Given the description of an element on the screen output the (x, y) to click on. 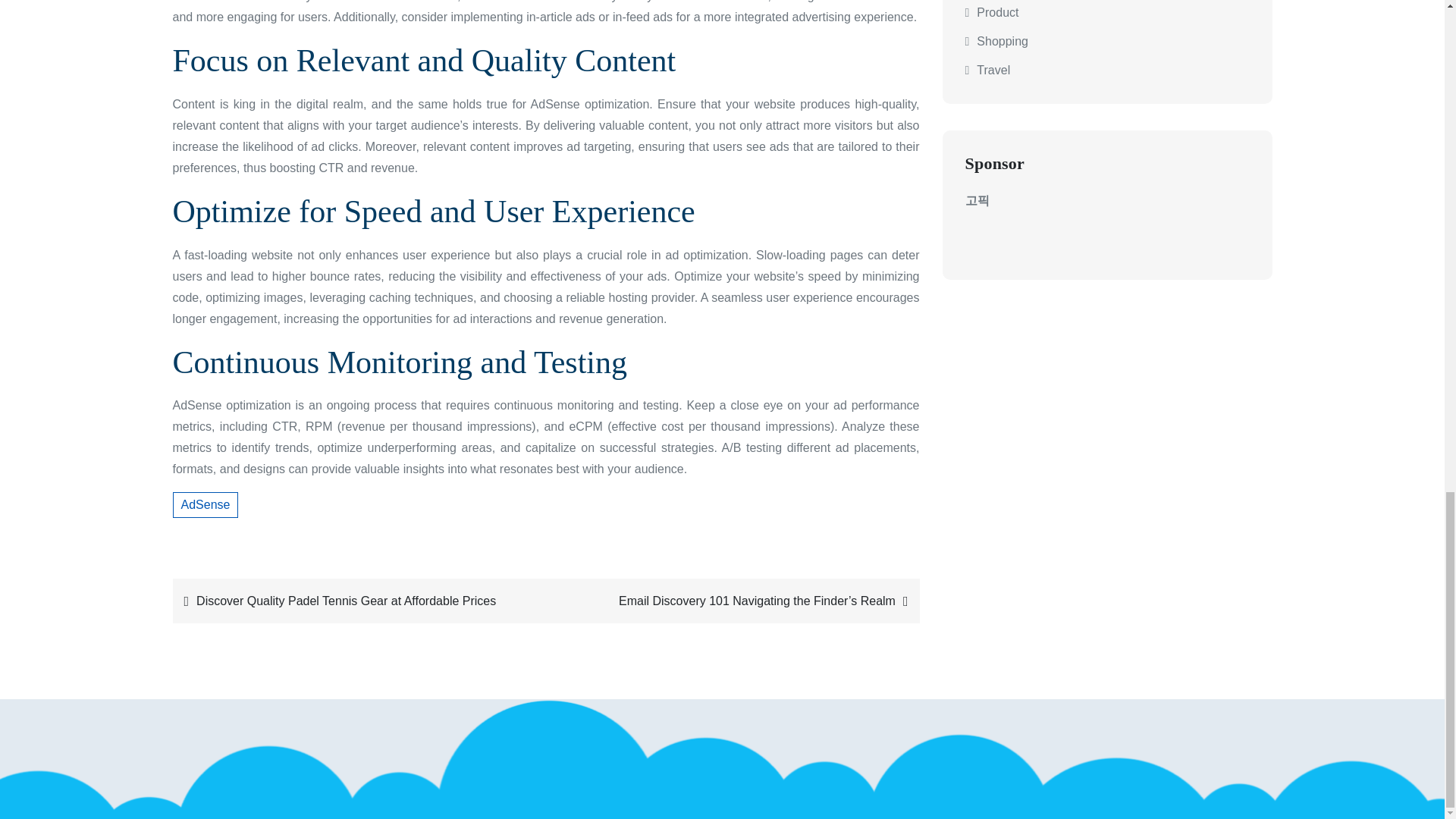
Travel (993, 69)
Product (996, 11)
Discover Quality Padel Tennis Gear at Affordable Prices (355, 600)
Shopping (1001, 41)
AdSense (205, 504)
